Given the description of an element on the screen output the (x, y) to click on. 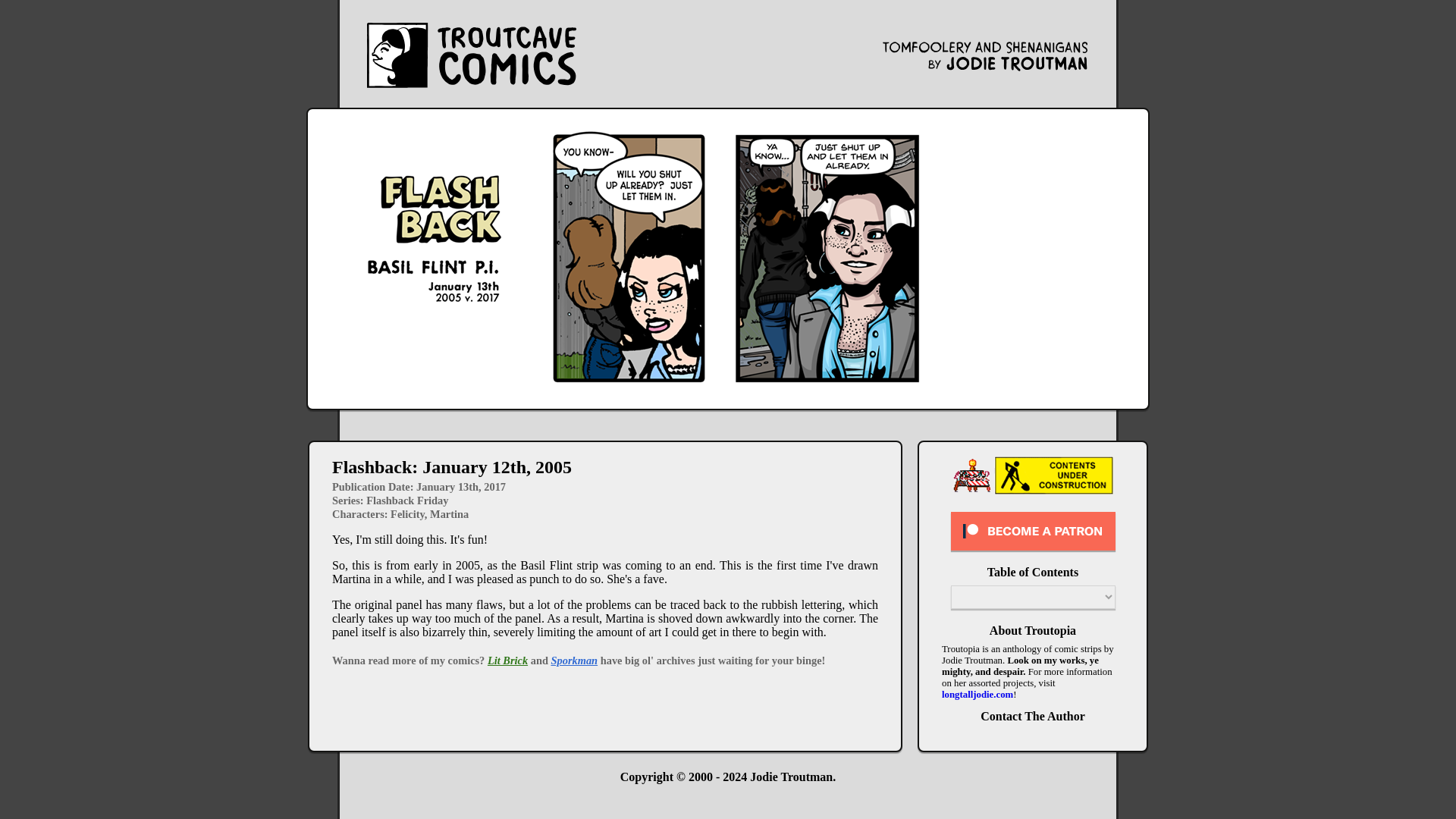
longtalljodie.com (977, 694)
Lit Brick (507, 660)
Sporkman (573, 660)
